Given the description of an element on the screen output the (x, y) to click on. 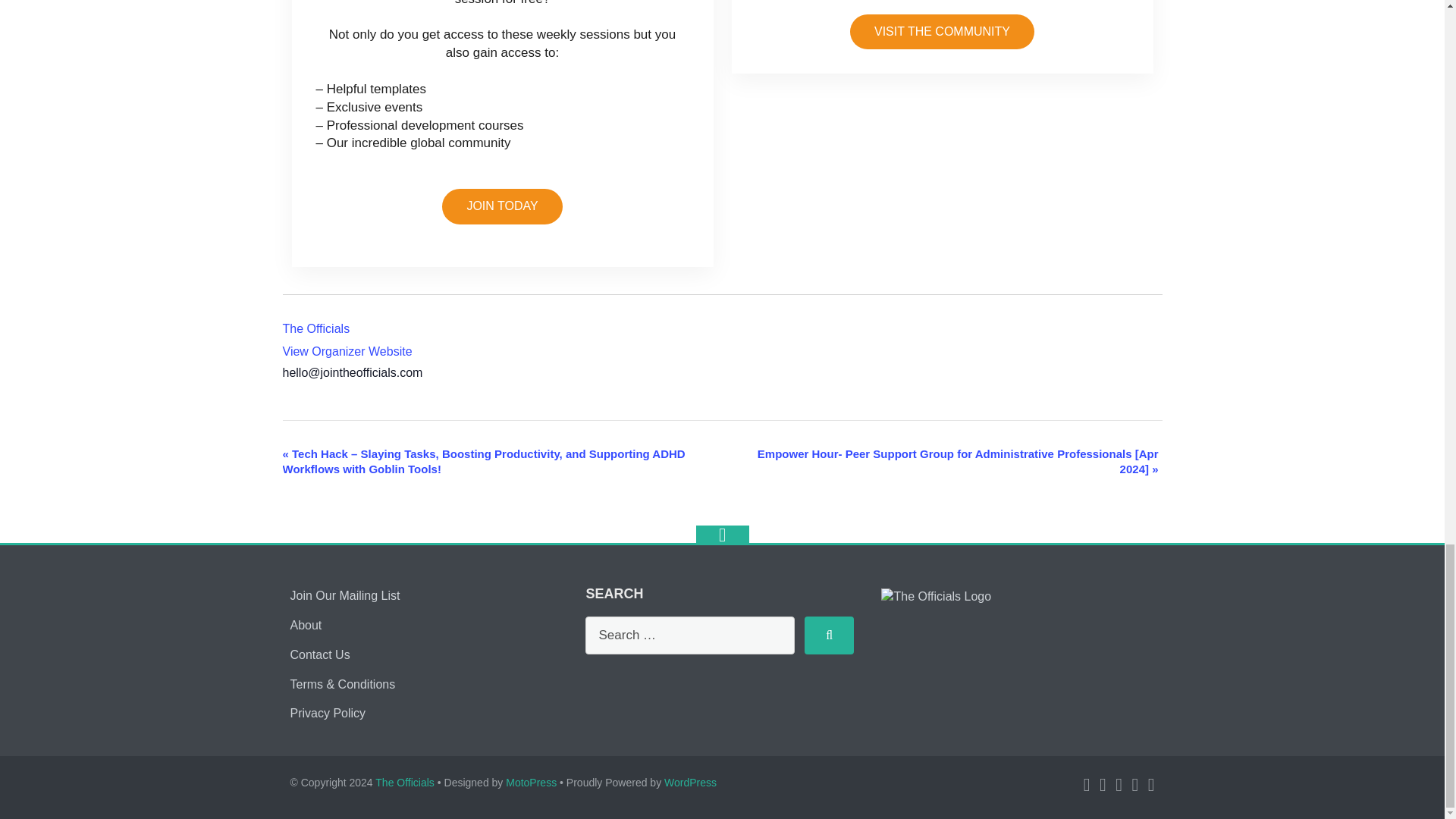
JOIN TODAY (502, 206)
Privacy Policy (327, 712)
The Officials (315, 328)
Join Our Mailing List (343, 594)
About (305, 625)
The Officials (315, 328)
View Organizer Website (347, 350)
Search for: (689, 635)
Contact Us (319, 654)
VISIT THE COMMUNITY (941, 31)
